Given the description of an element on the screen output the (x, y) to click on. 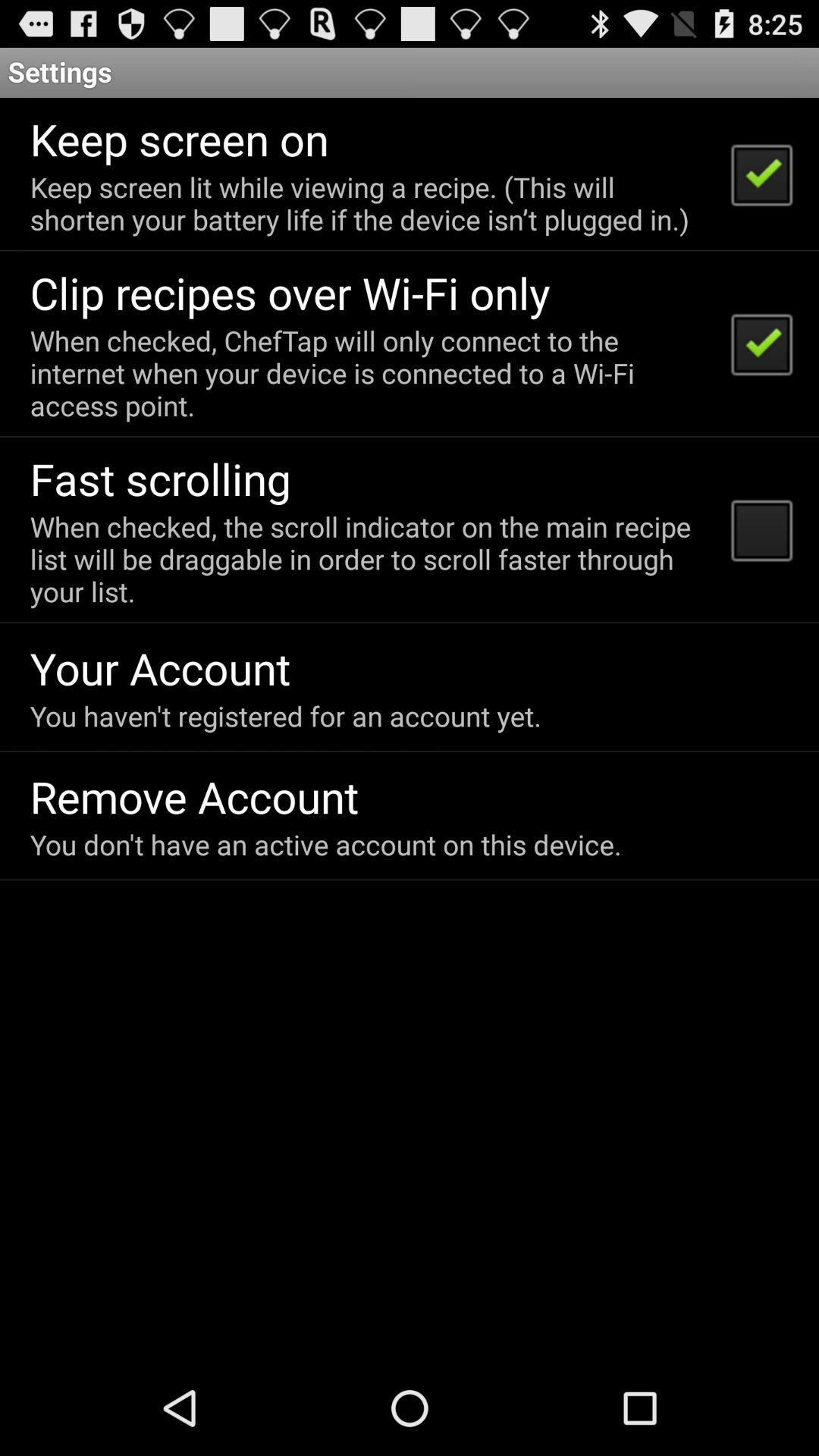
jump until fast scrolling icon (160, 478)
